Given the description of an element on the screen output the (x, y) to click on. 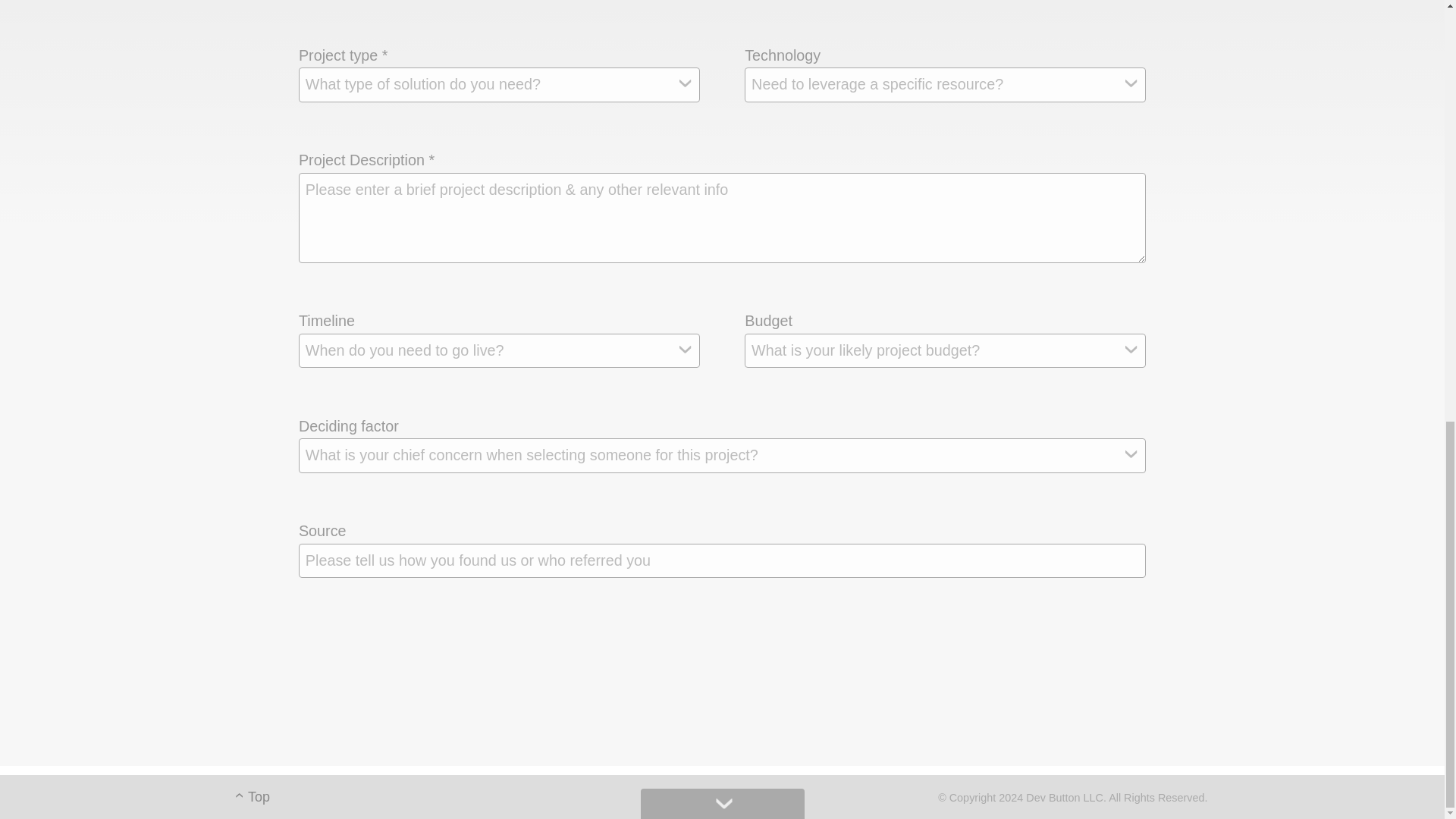
Top (252, 796)
Scroll to top (252, 796)
Send Message (729, 661)
